Given the description of an element on the screen output the (x, y) to click on. 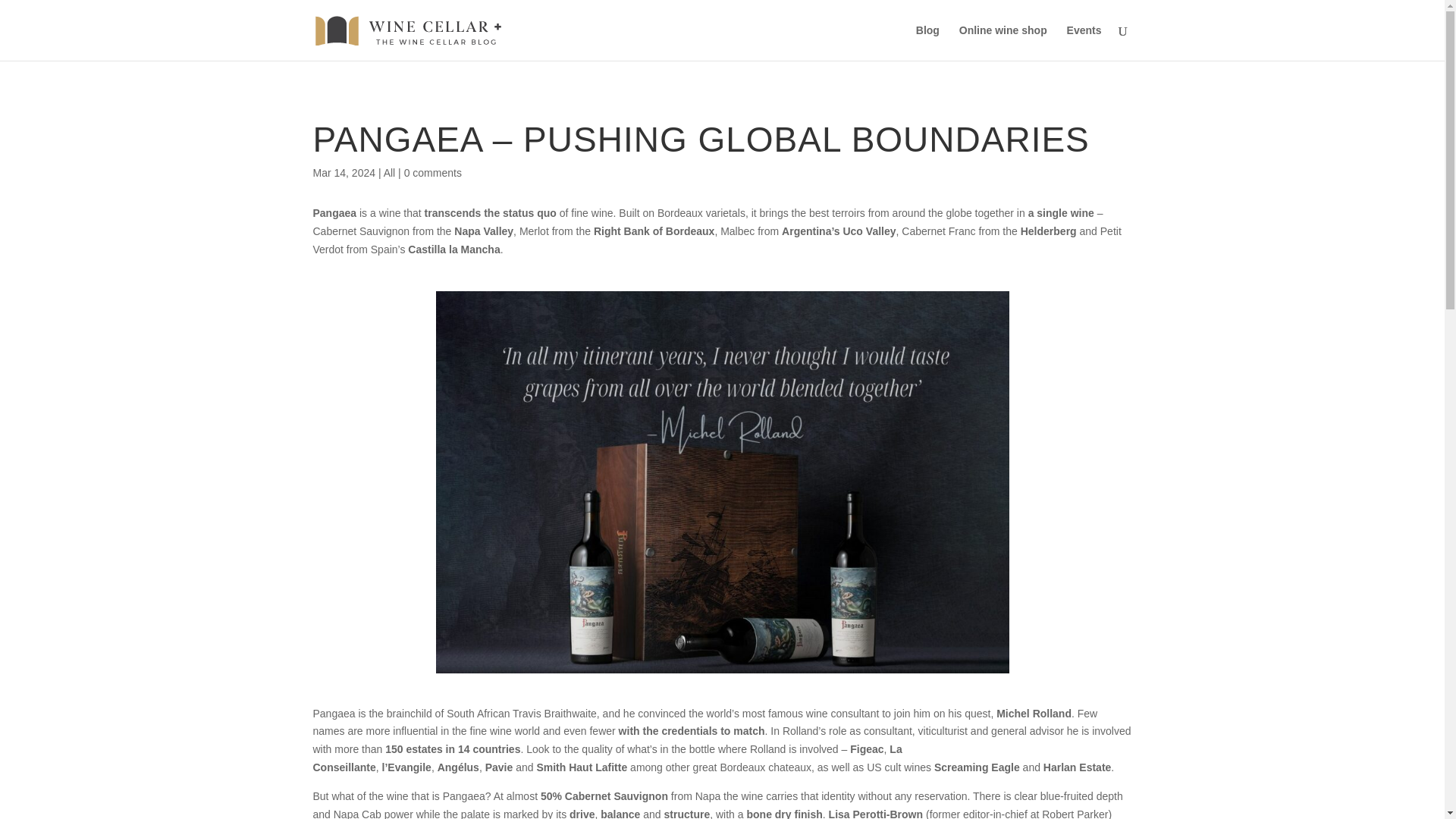
0 comments (432, 173)
Online wine shop (1002, 42)
Events (1084, 42)
All (390, 173)
